Given the description of an element on the screen output the (x, y) to click on. 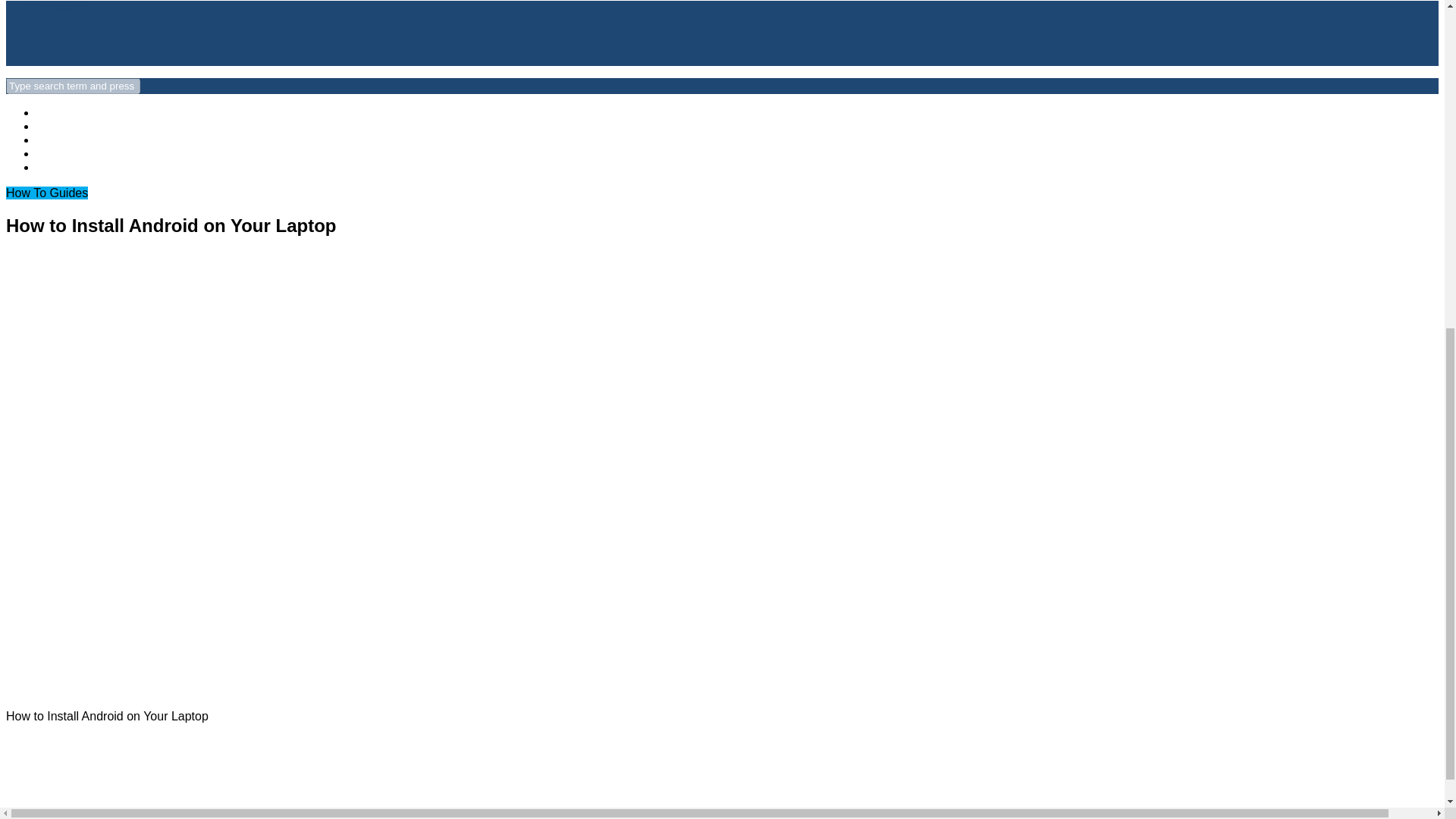
Type search term and press enter (72, 85)
